Given the description of an element on the screen output the (x, y) to click on. 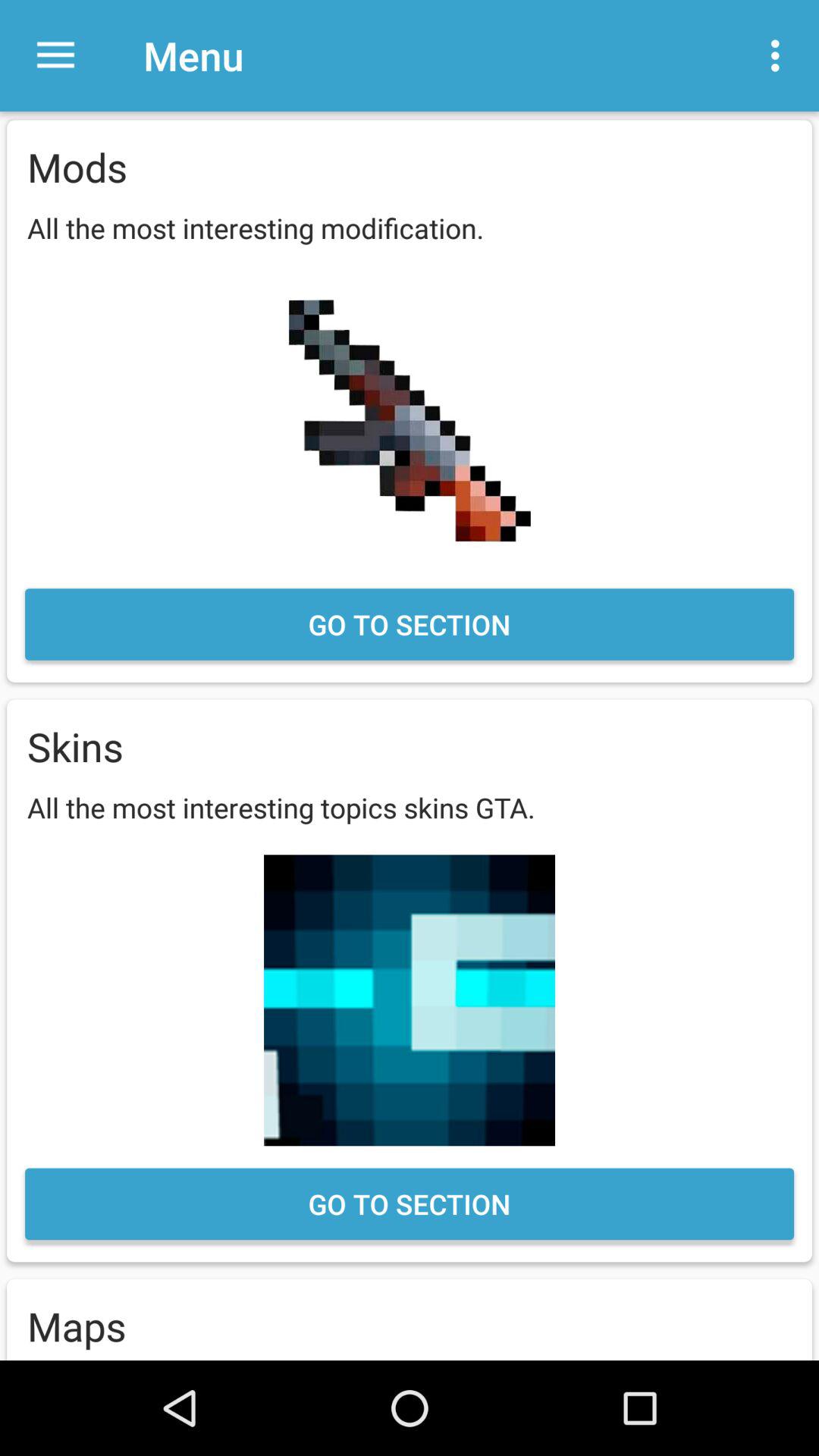
choose the item to the right of the menu icon (779, 55)
